Given the description of an element on the screen output the (x, y) to click on. 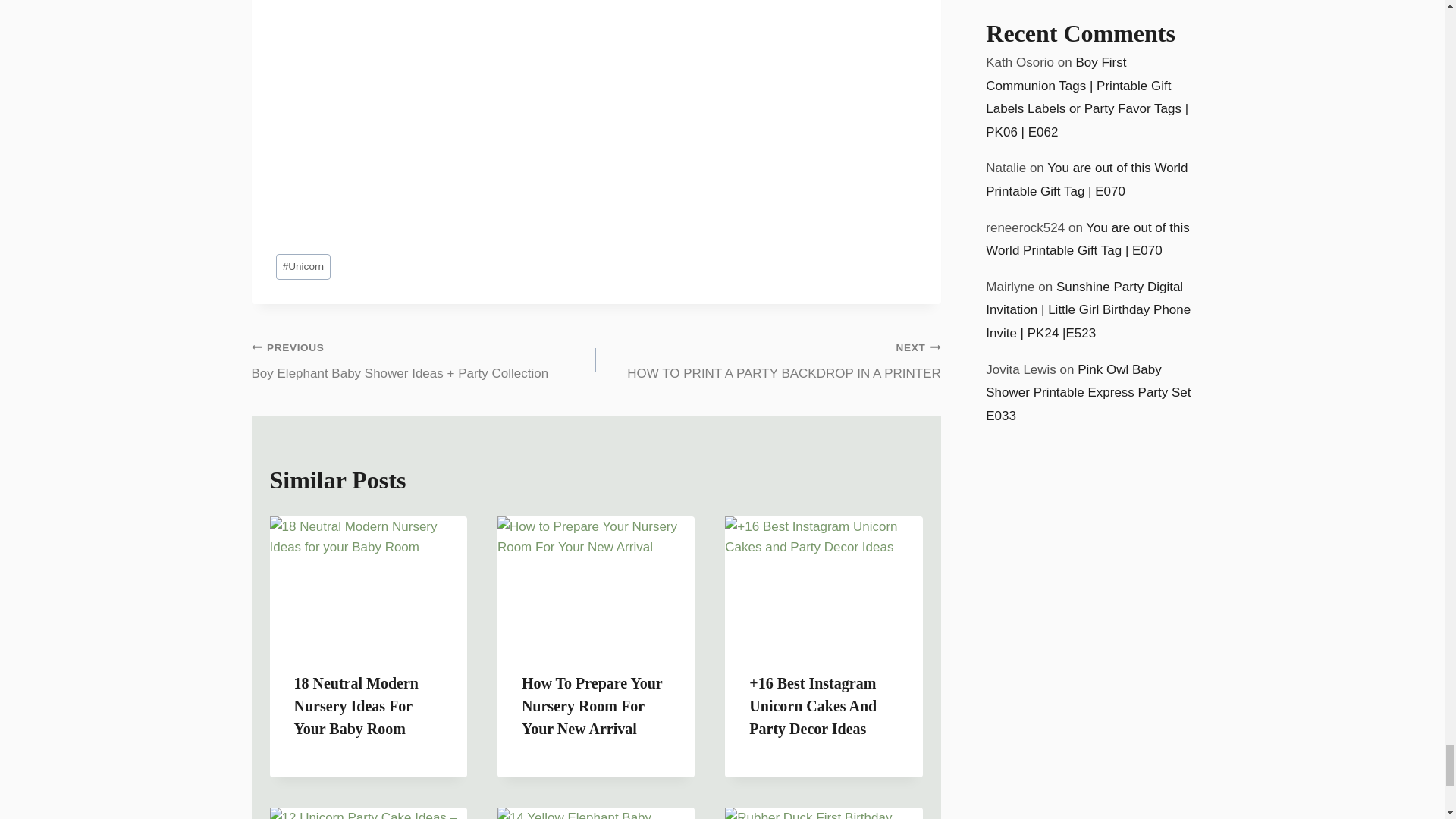
Unicorn (303, 266)
18 Neutral Modern Nursery Ideas For Your Baby Room (767, 360)
How To Prepare Your Nursery Room For Your New Arrival (356, 705)
